Given the description of an element on the screen output the (x, y) to click on. 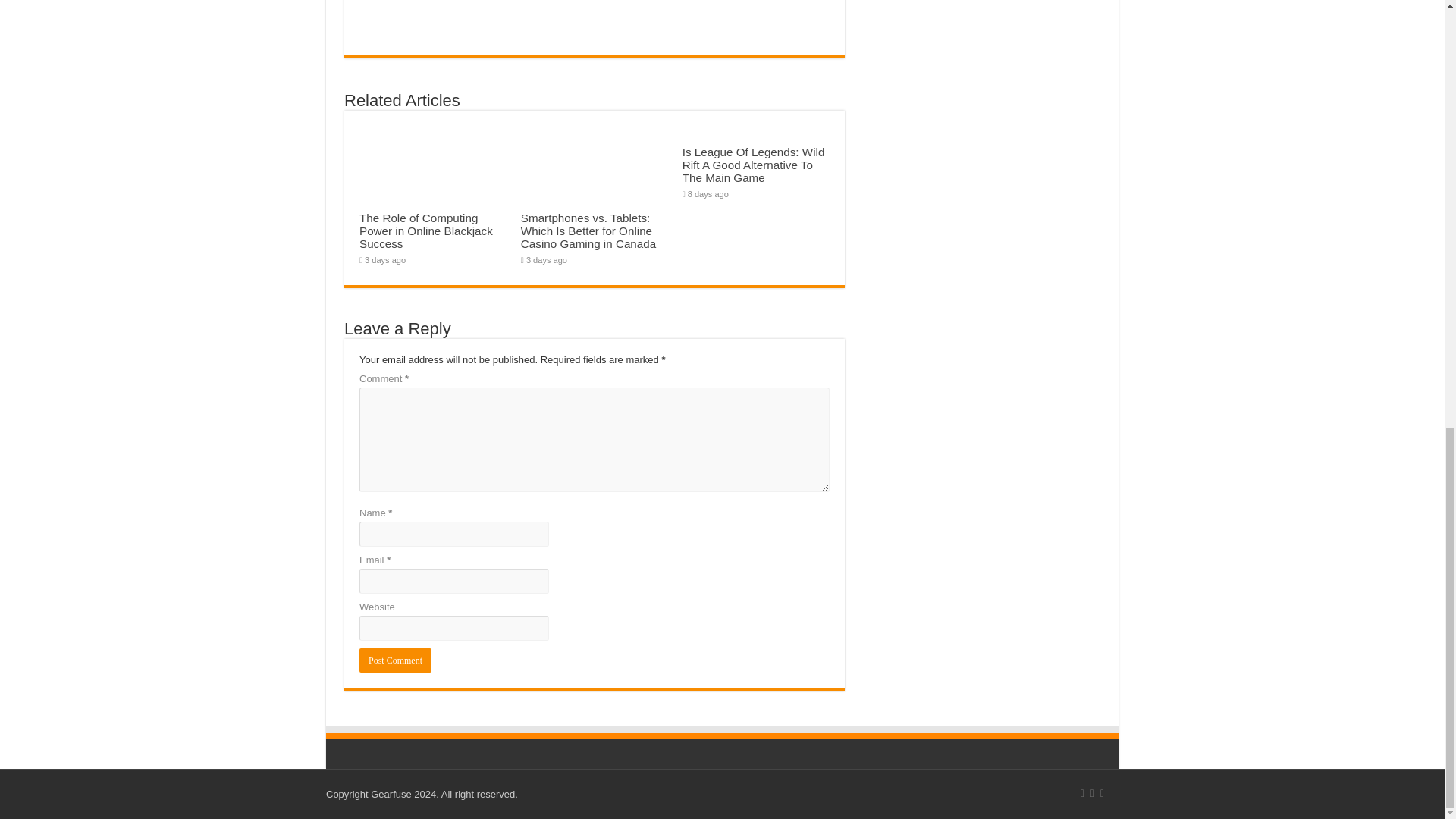
Post Comment (394, 660)
